Given the description of an element on the screen output the (x, y) to click on. 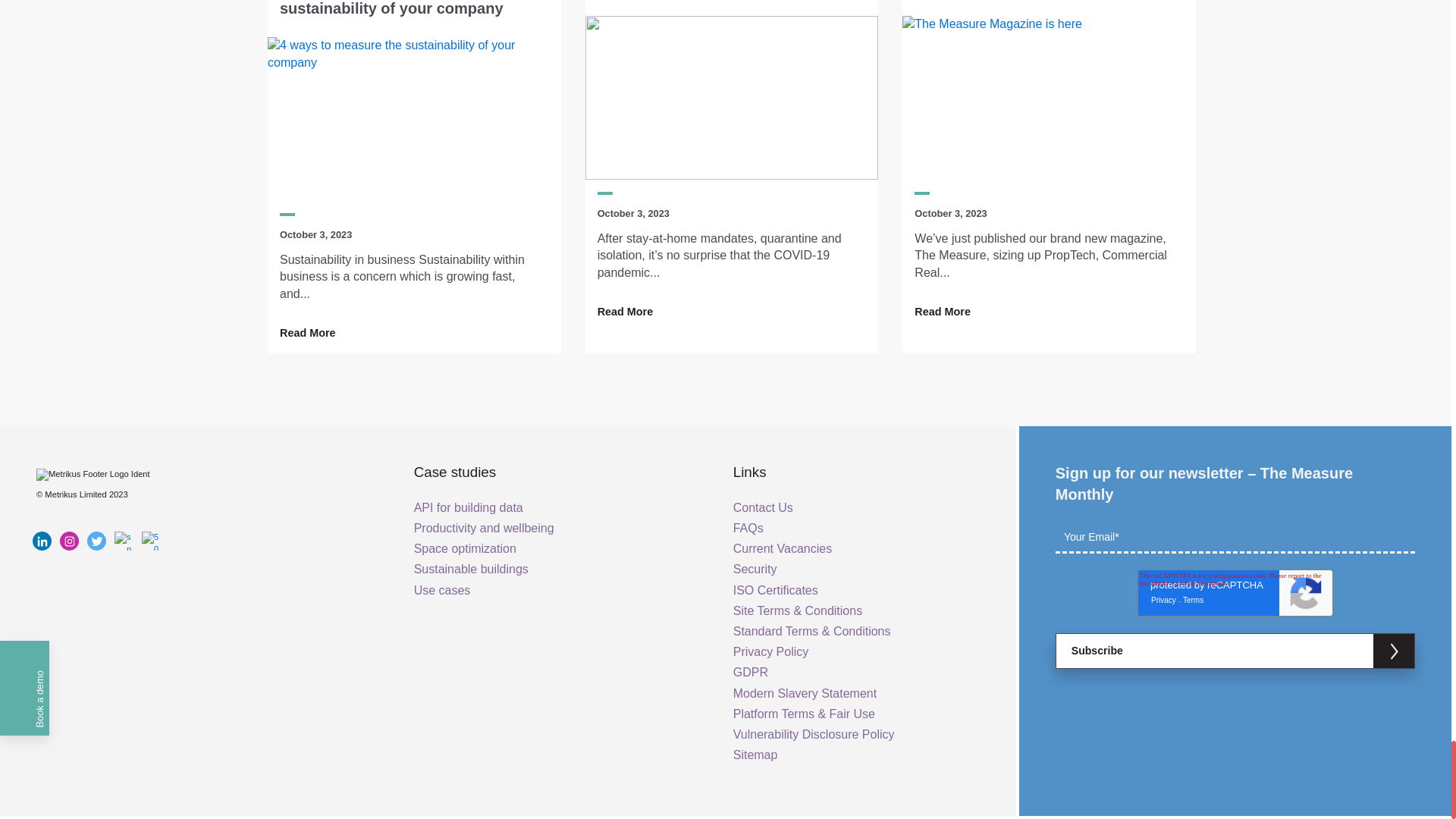
Subscribe (1235, 651)
reCAPTCHA (1235, 592)
